Given the description of an element on the screen output the (x, y) to click on. 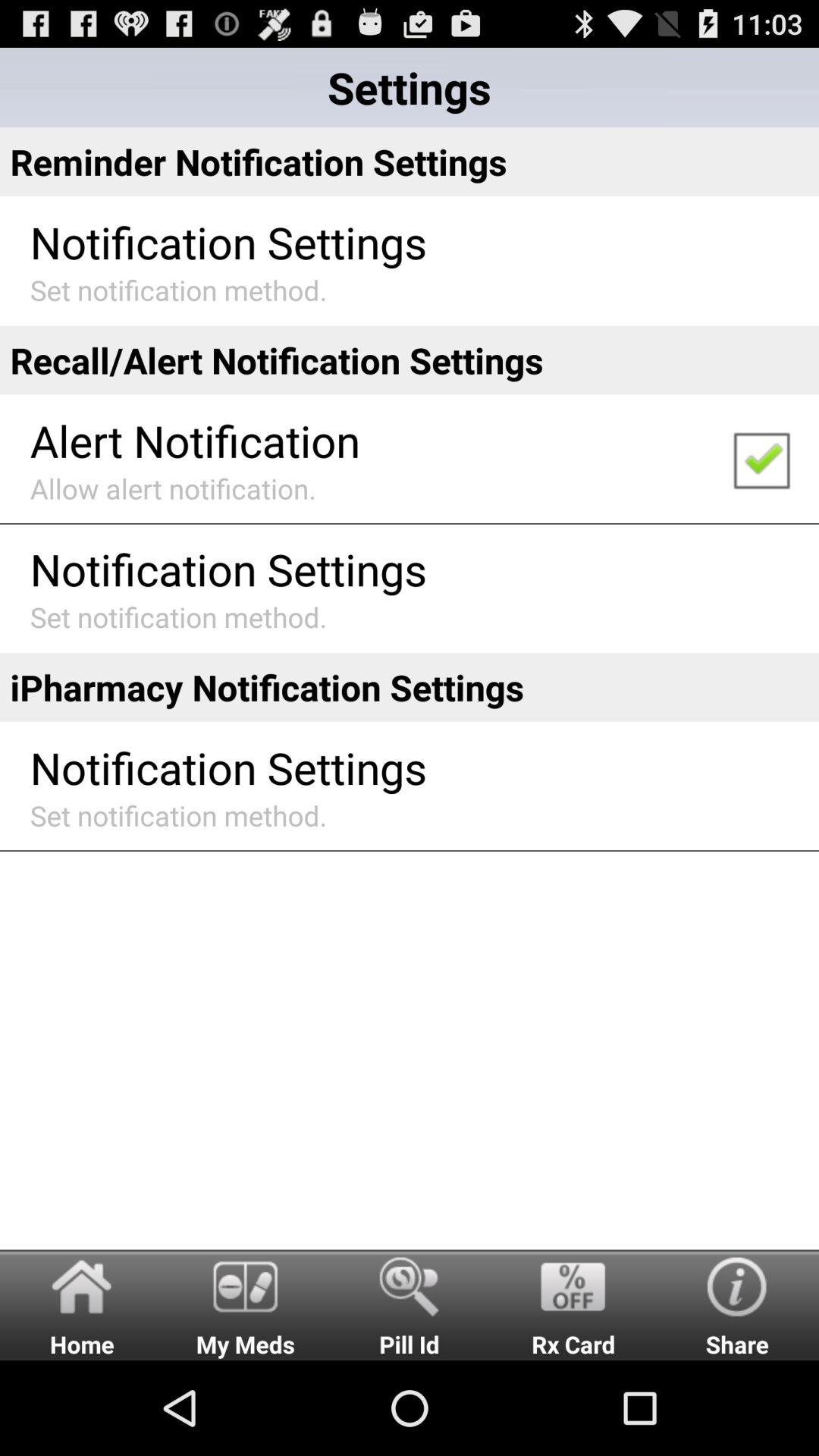
turn on the icon to the right of the home item (245, 1304)
